Given the description of an element on the screen output the (x, y) to click on. 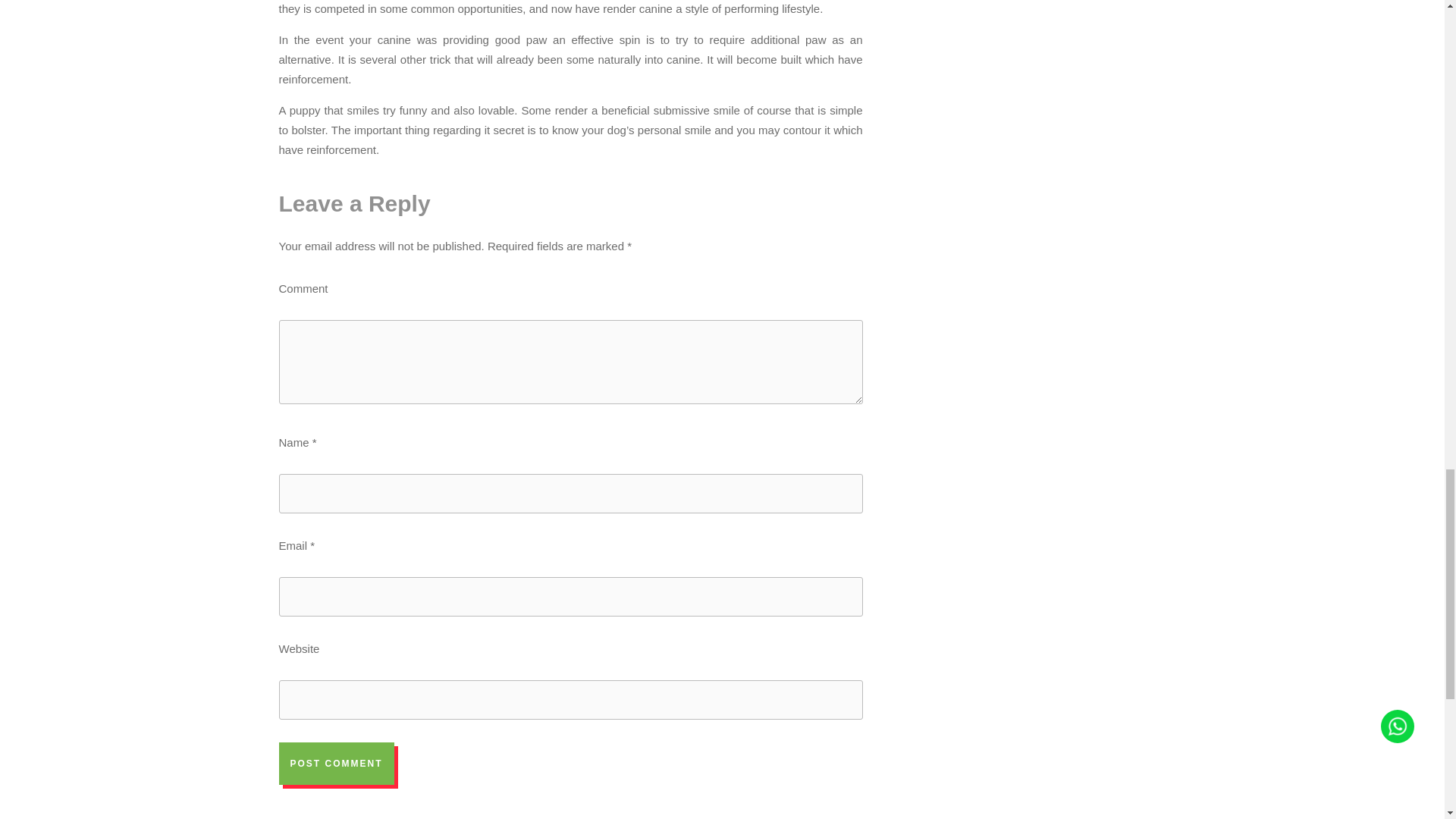
Post Comment (336, 763)
Post Comment (336, 763)
